Given the description of an element on the screen output the (x, y) to click on. 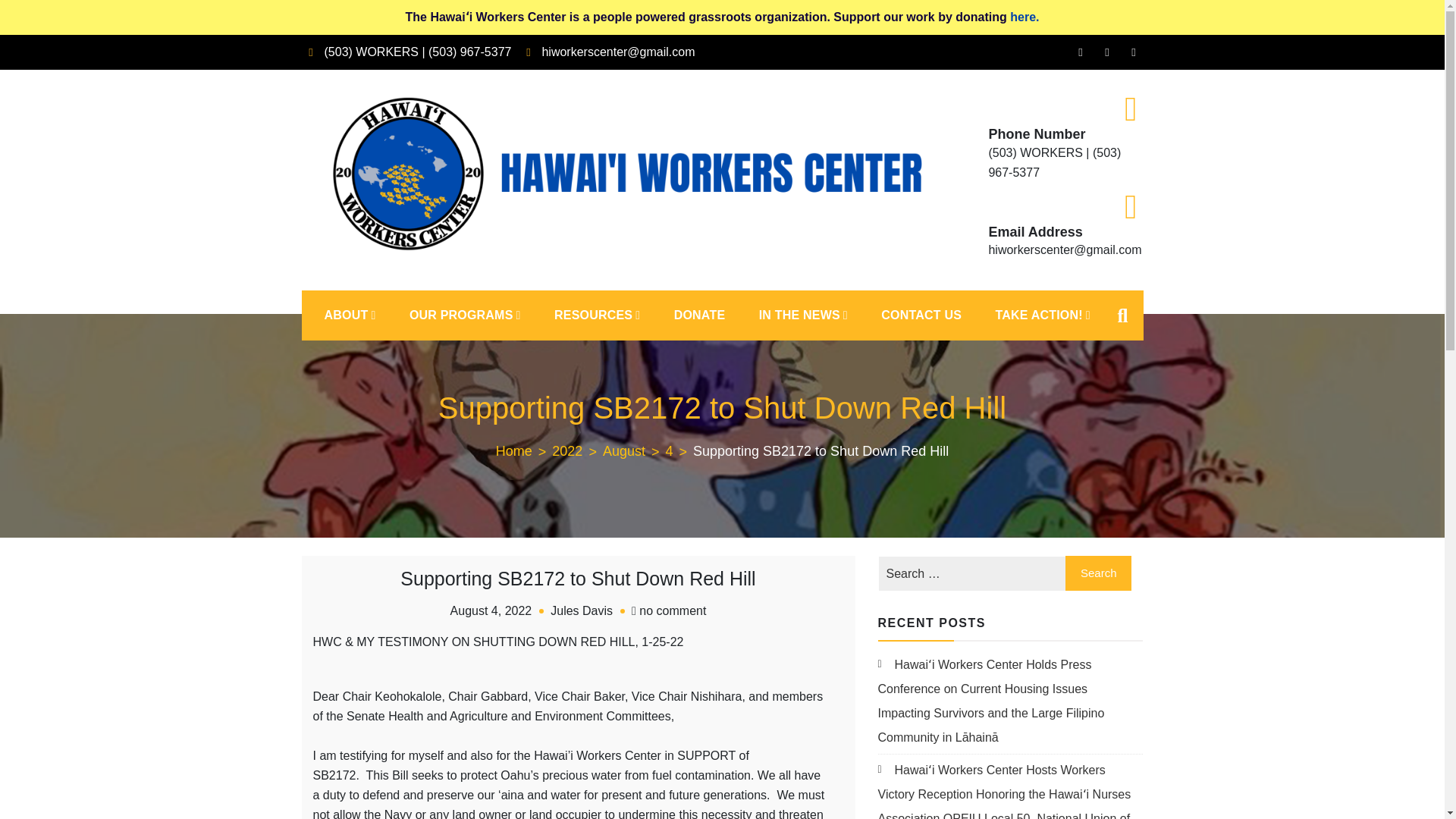
ABOUT (349, 315)
Hawai'i Workers Center (453, 271)
OUR PROGRAMS (464, 315)
here. (1024, 16)
Search (1098, 573)
Search (1098, 573)
